Given the description of an element on the screen output the (x, y) to click on. 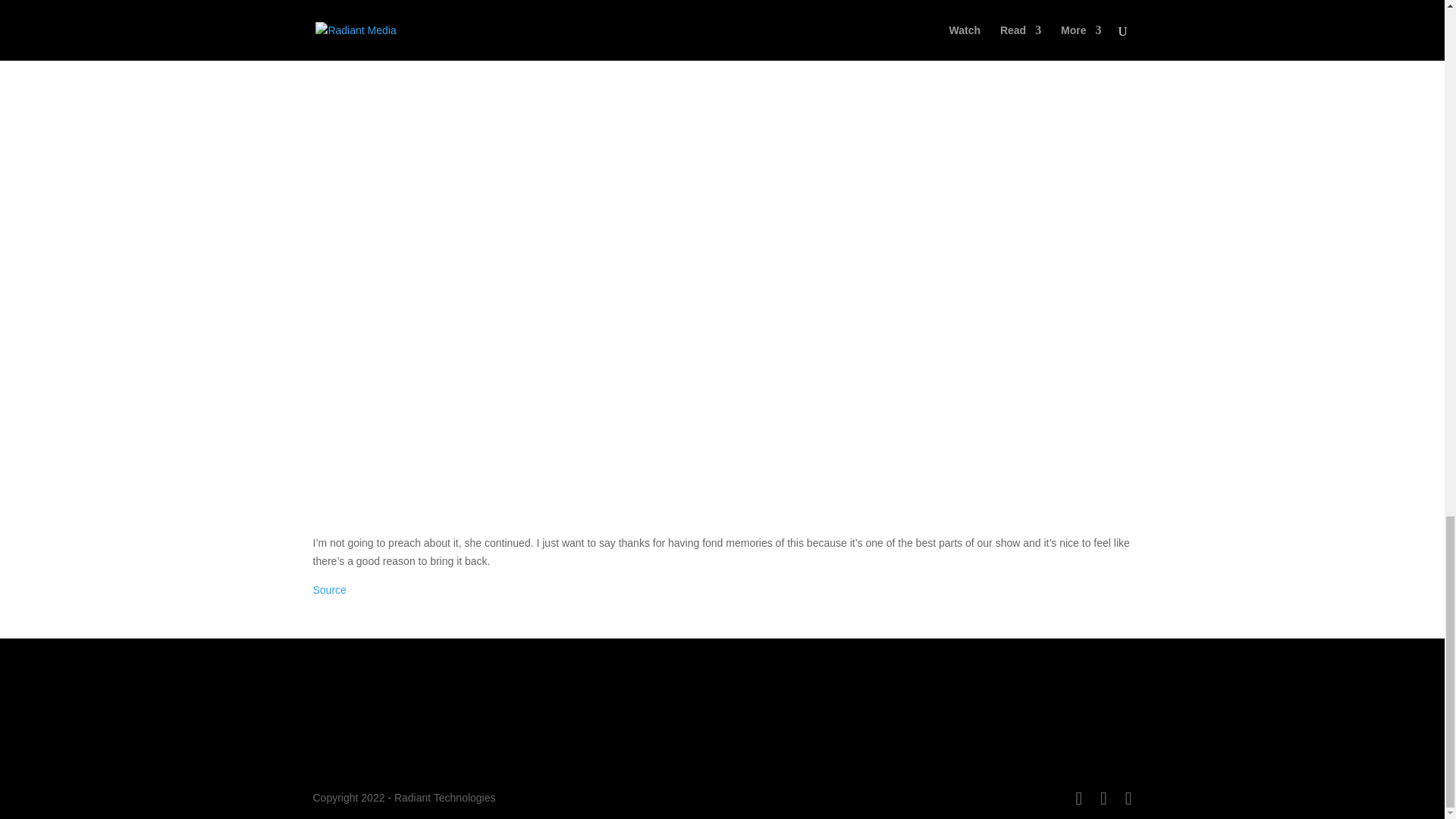
Source (329, 589)
